Given the description of an element on the screen output the (x, y) to click on. 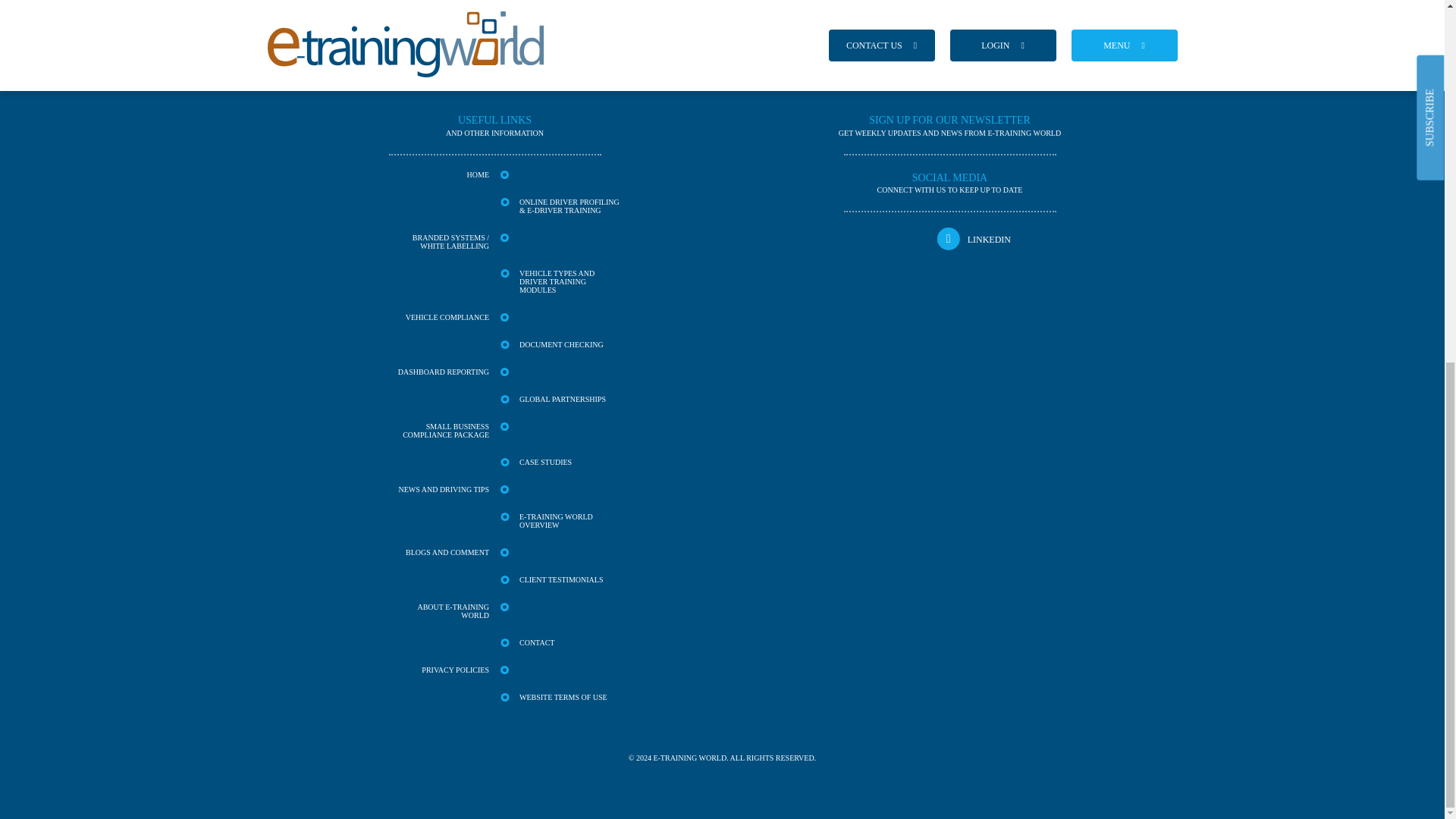
BLOGS AND COMMENT (438, 557)
HOME (438, 180)
CONTACT (569, 648)
DOCUMENT CHECKING (569, 350)
VEHICLE TYPES AND DRIVER TRAINING MODULES (569, 287)
GLOBAL PARTNERSHIPS (569, 404)
DASHBOARD REPORTING (438, 377)
CLIENT TESTIMONIALS (569, 585)
WEBSITE TERMS OF USE (569, 696)
E-TRAINING WORLD OVERVIEW (569, 526)
